Given the description of an element on the screen output the (x, y) to click on. 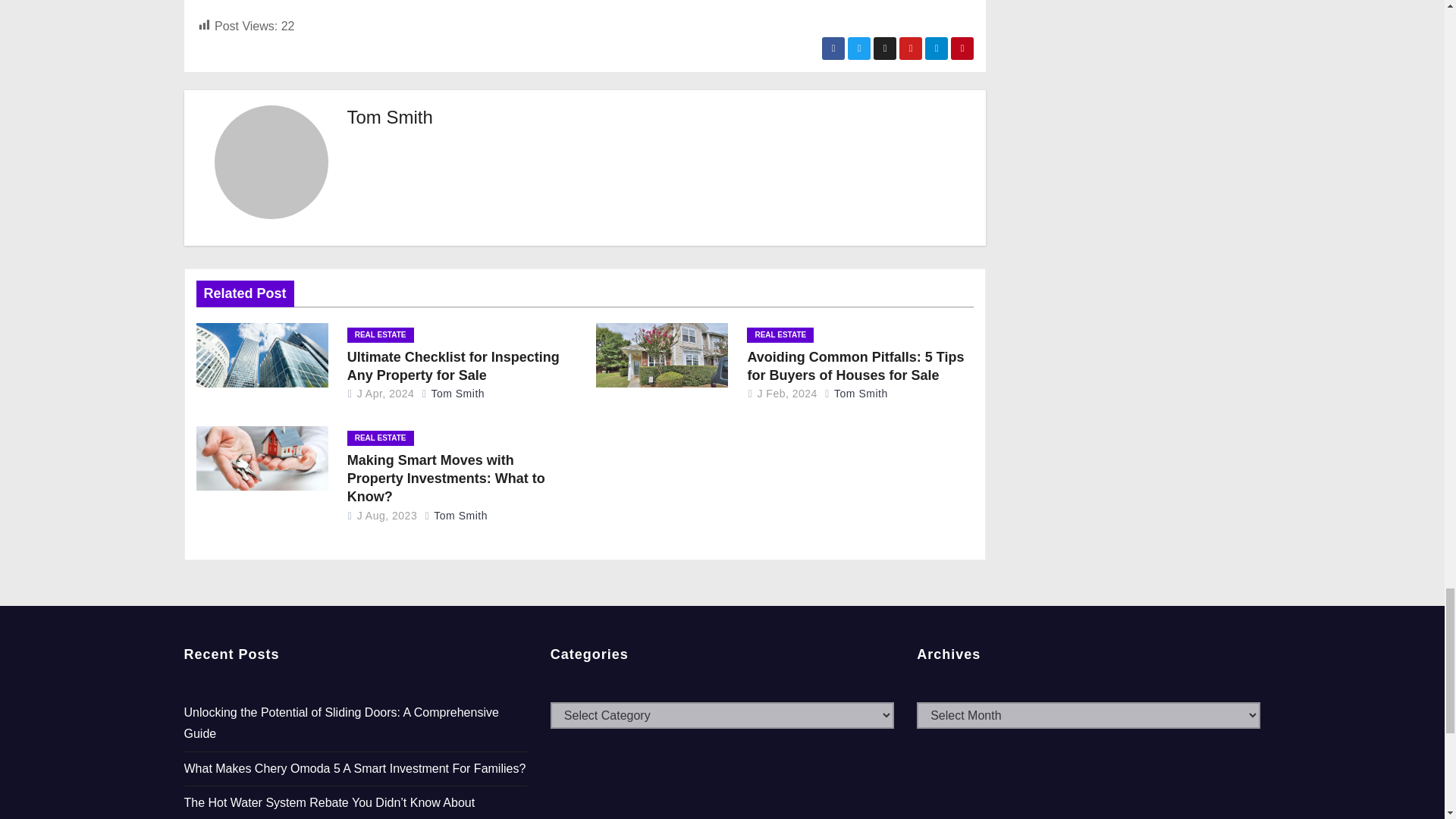
REAL ESTATE (380, 335)
Ultimate Checklist for Inspecting Any Property for Sale (453, 366)
Tom Smith (389, 117)
Tom Smith (453, 393)
